Given the description of an element on the screen output the (x, y) to click on. 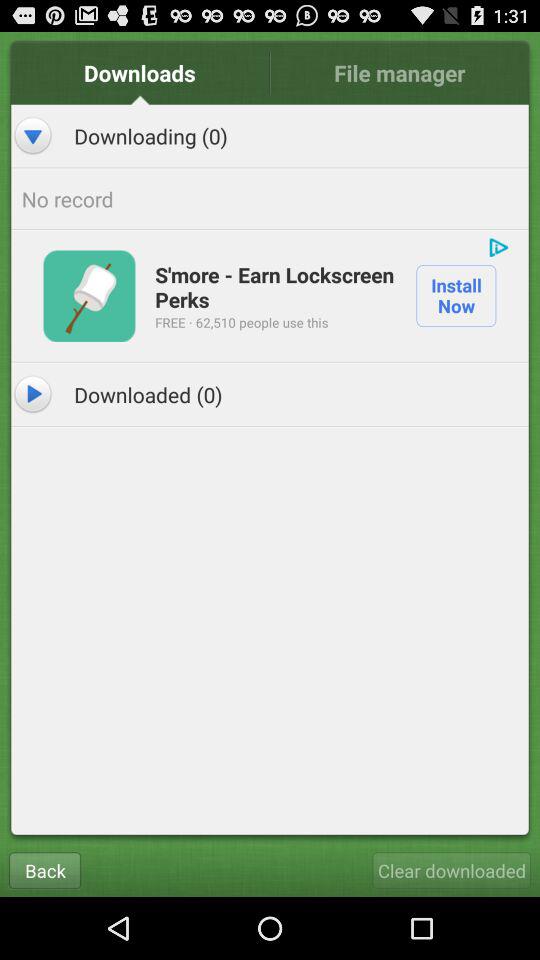
turn on the app below downloaded (0) (451, 870)
